Given the description of an element on the screen output the (x, y) to click on. 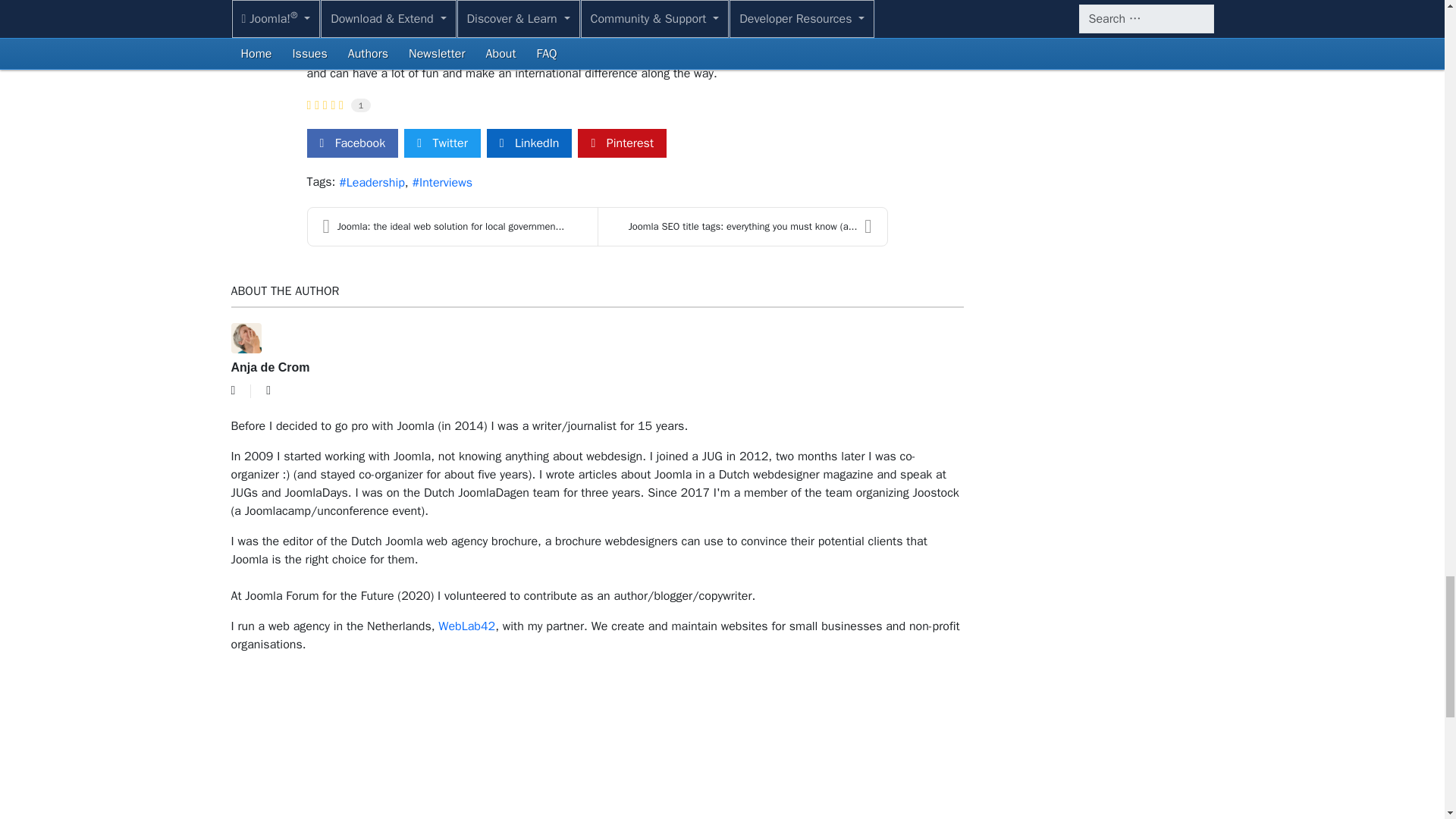
good (316, 105)
good (325, 105)
good (332, 105)
1 vote (360, 105)
good (323, 105)
good (341, 105)
good (308, 105)
